Given the description of an element on the screen output the (x, y) to click on. 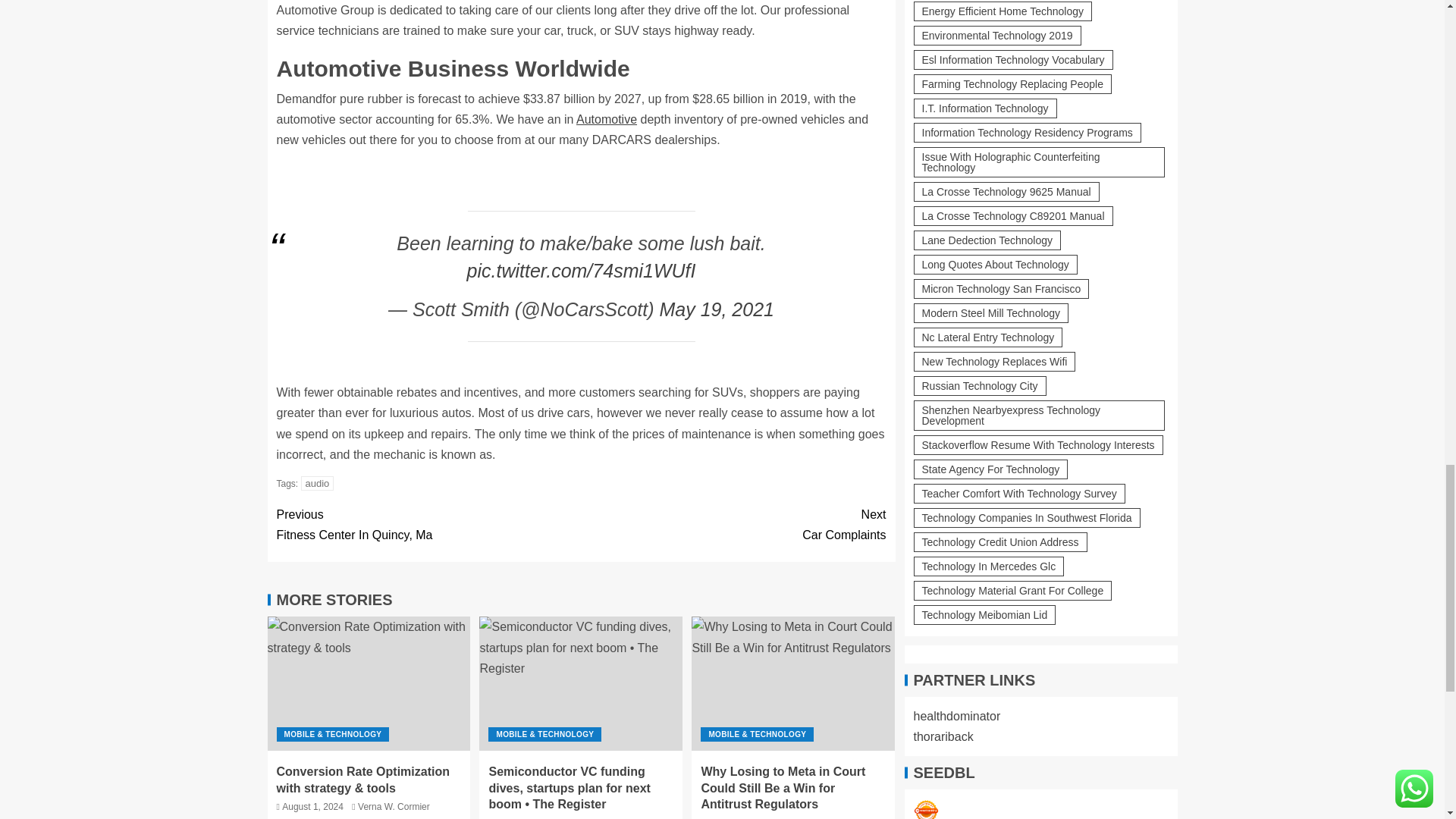
May 19, 2021 (716, 309)
Automotive (428, 524)
audio (606, 119)
